Given the description of an element on the screen output the (x, y) to click on. 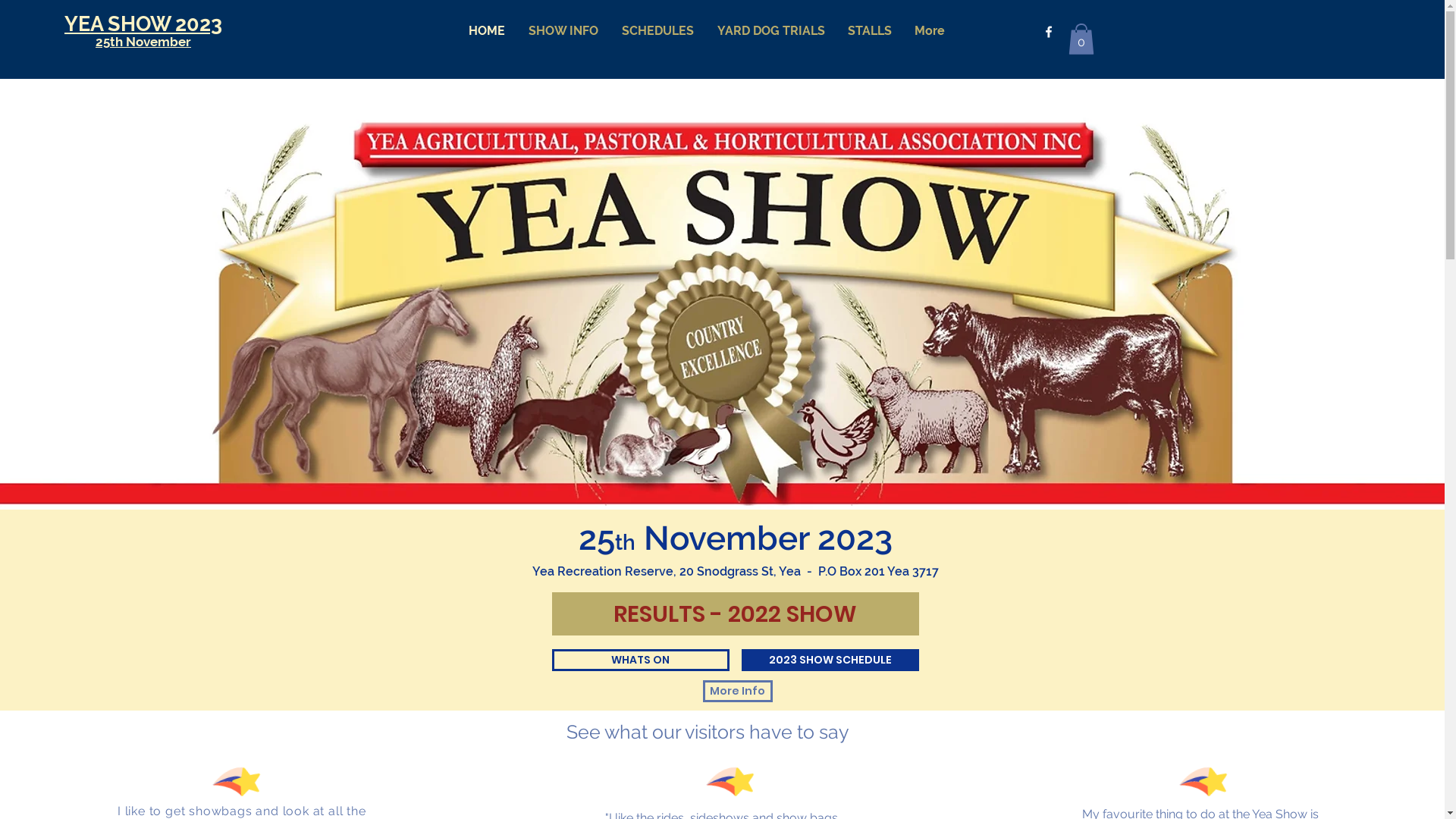
2023 SHOW SCHEDULE Element type: text (830, 660)
SCHEDULES Element type: text (658, 30)
YARD DOG TRIALS Element type: text (771, 30)
RESULTS - 2022 SHOW Element type: text (735, 613)
SHOW INFO Element type: text (563, 30)
YEA SHOW 2023 Element type: text (143, 23)
0 Element type: text (1080, 38)
HOME Element type: text (487, 30)
WHATS ON Element type: text (640, 660)
More Info Element type: text (736, 691)
25th November Element type: text (143, 41)
STALLS Element type: text (869, 30)
